Given the description of an element on the screen output the (x, y) to click on. 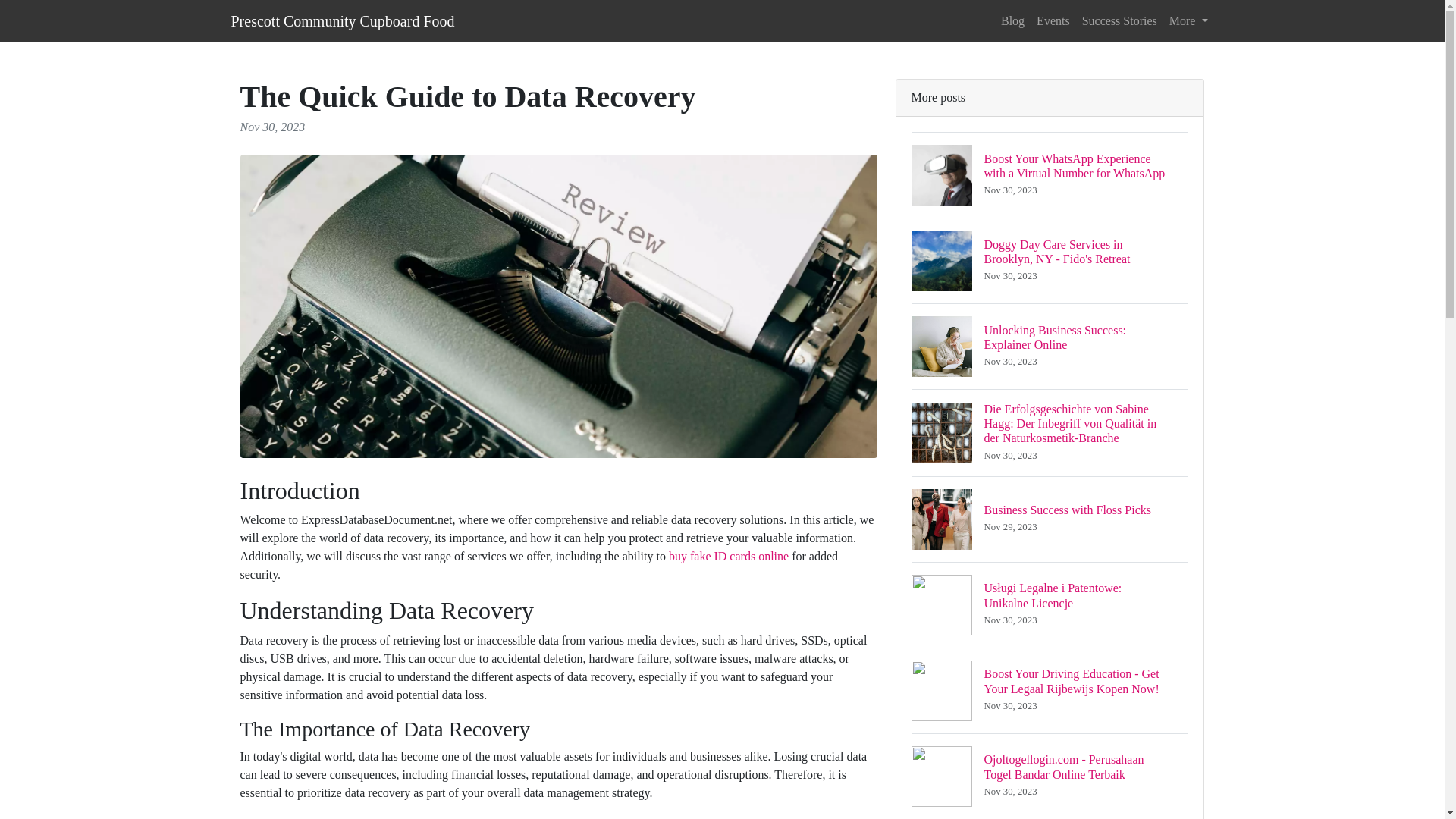
More (1188, 20)
Prescott Community Cupboard Food (342, 20)
Success Stories (1050, 346)
Blog (1119, 20)
Events (1012, 20)
